Given the description of an element on the screen output the (x, y) to click on. 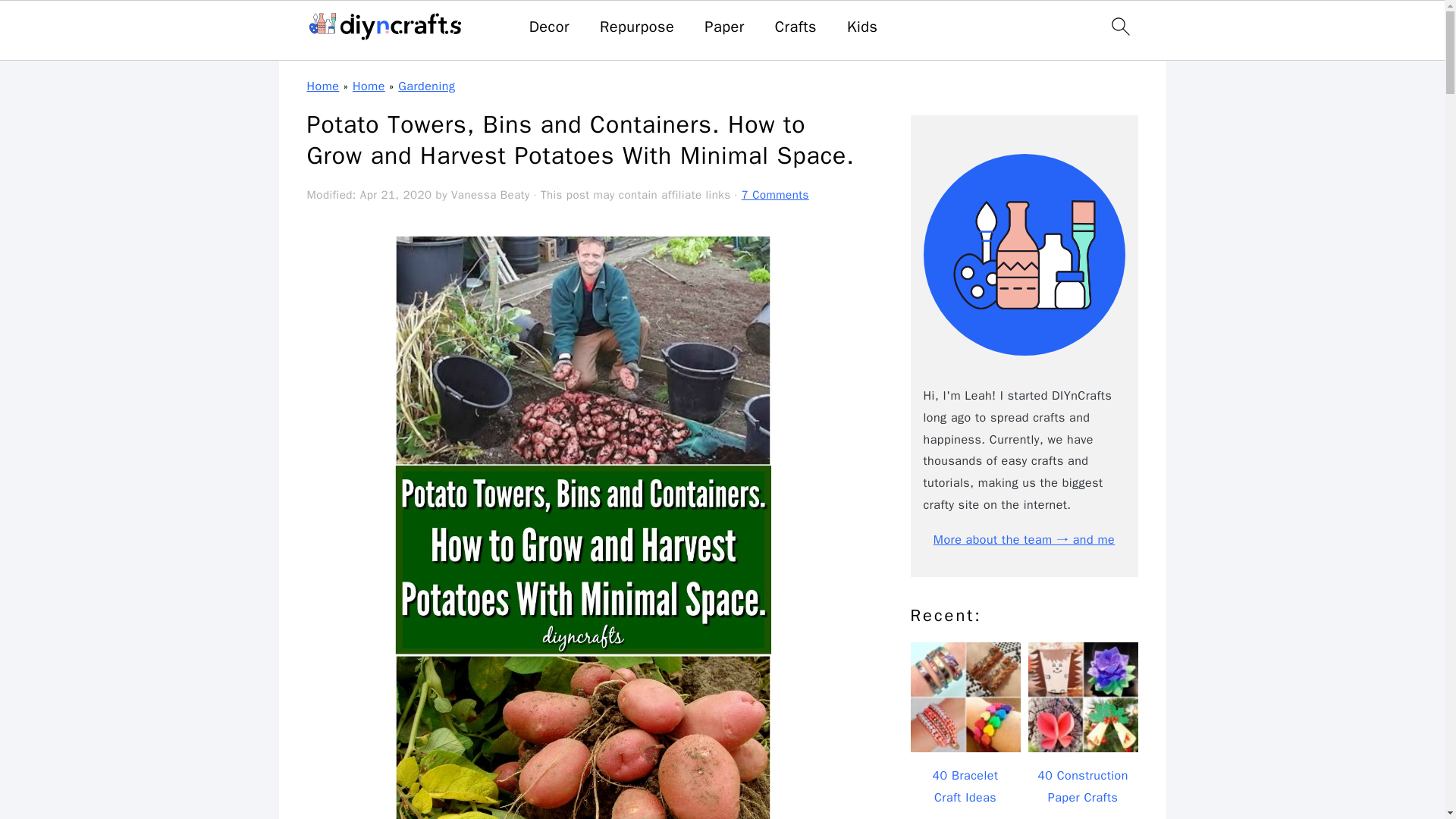
Decor (549, 27)
search icon (1119, 26)
